Given the description of an element on the screen output the (x, y) to click on. 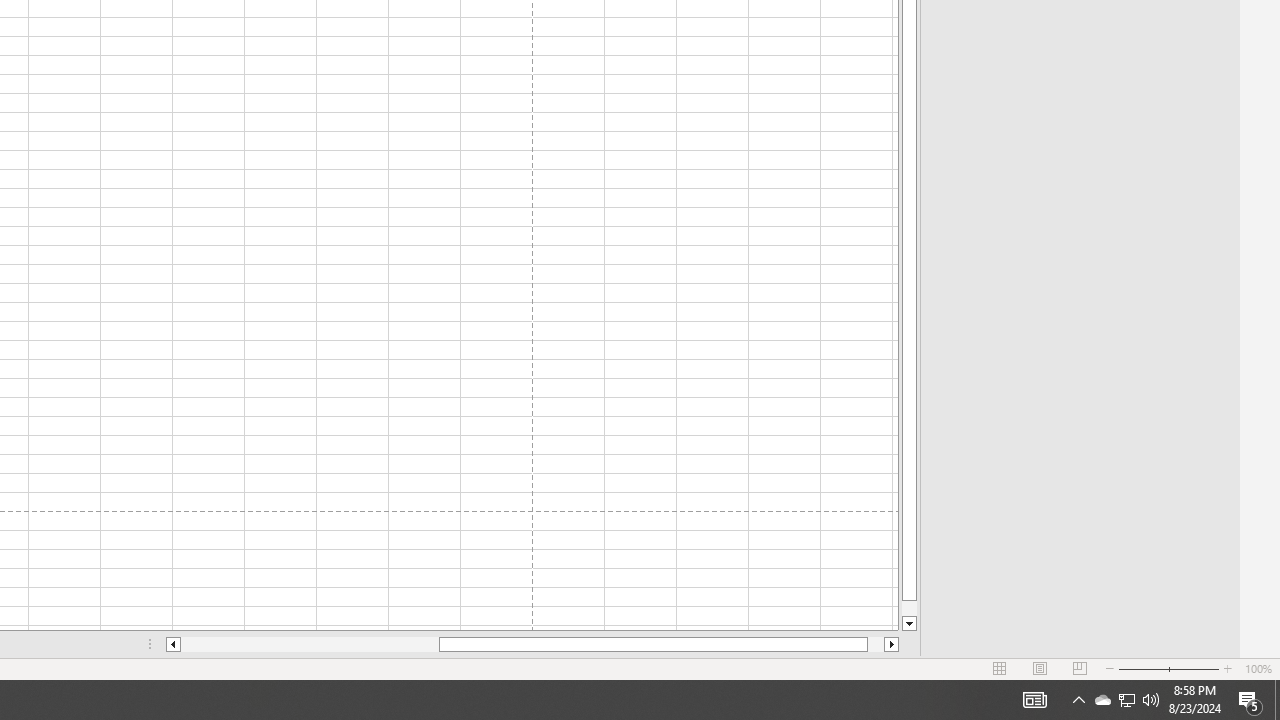
Action Center, 5 new notifications (1250, 699)
AutomationID: 4105 (1034, 699)
User Promoted Notification Area (1126, 699)
Q2790: 100% (1126, 699)
Page left (1151, 699)
Notification Chevron (309, 644)
